Given the description of an element on the screen output the (x, y) to click on. 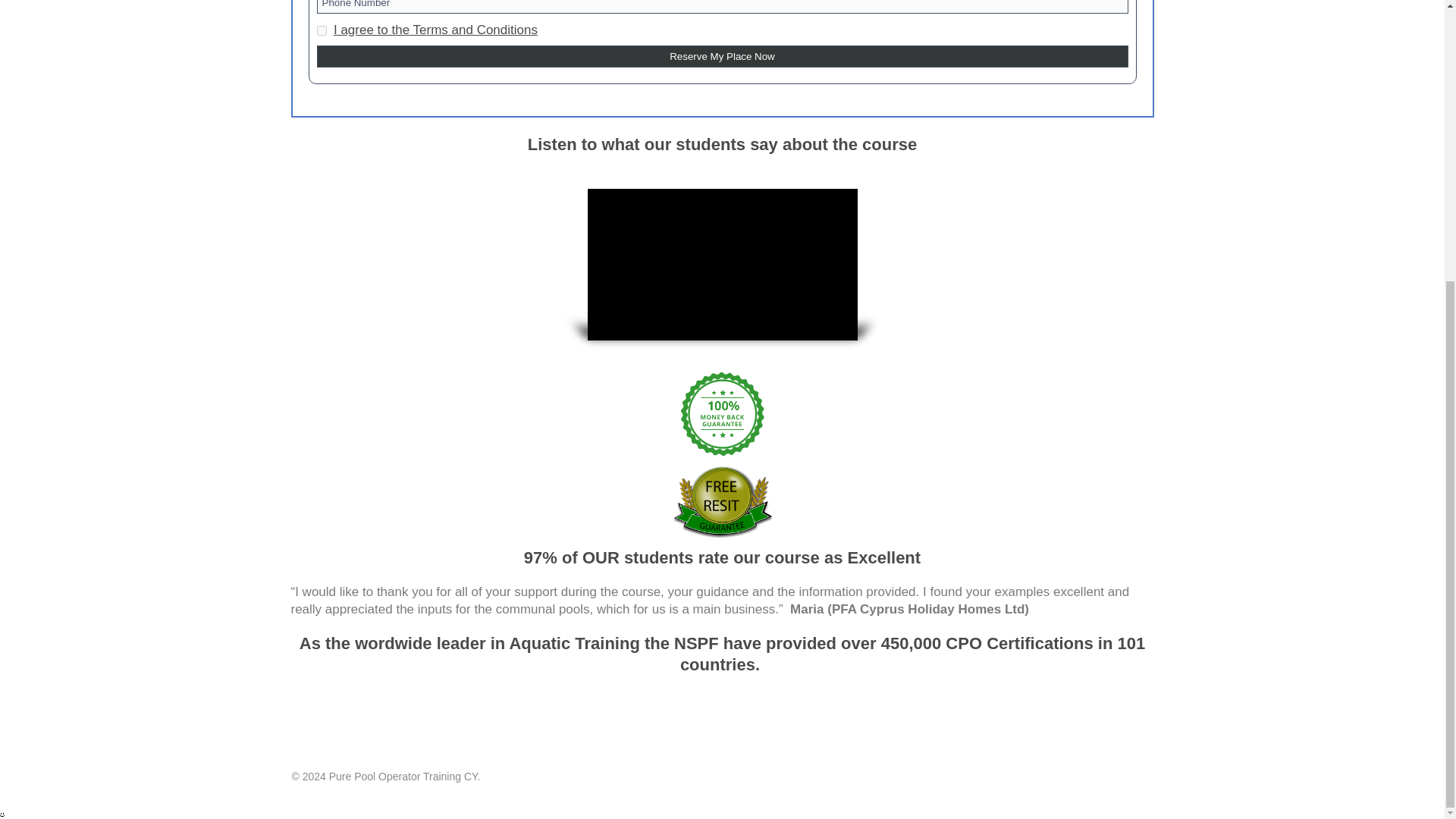
checked (321, 30)
I agree to the Terms and Conditions (435, 29)
Phone Number (722, 6)
Reserve My Place Now (722, 56)
Reserve My Place Now (722, 56)
